Given the description of an element on the screen output the (x, y) to click on. 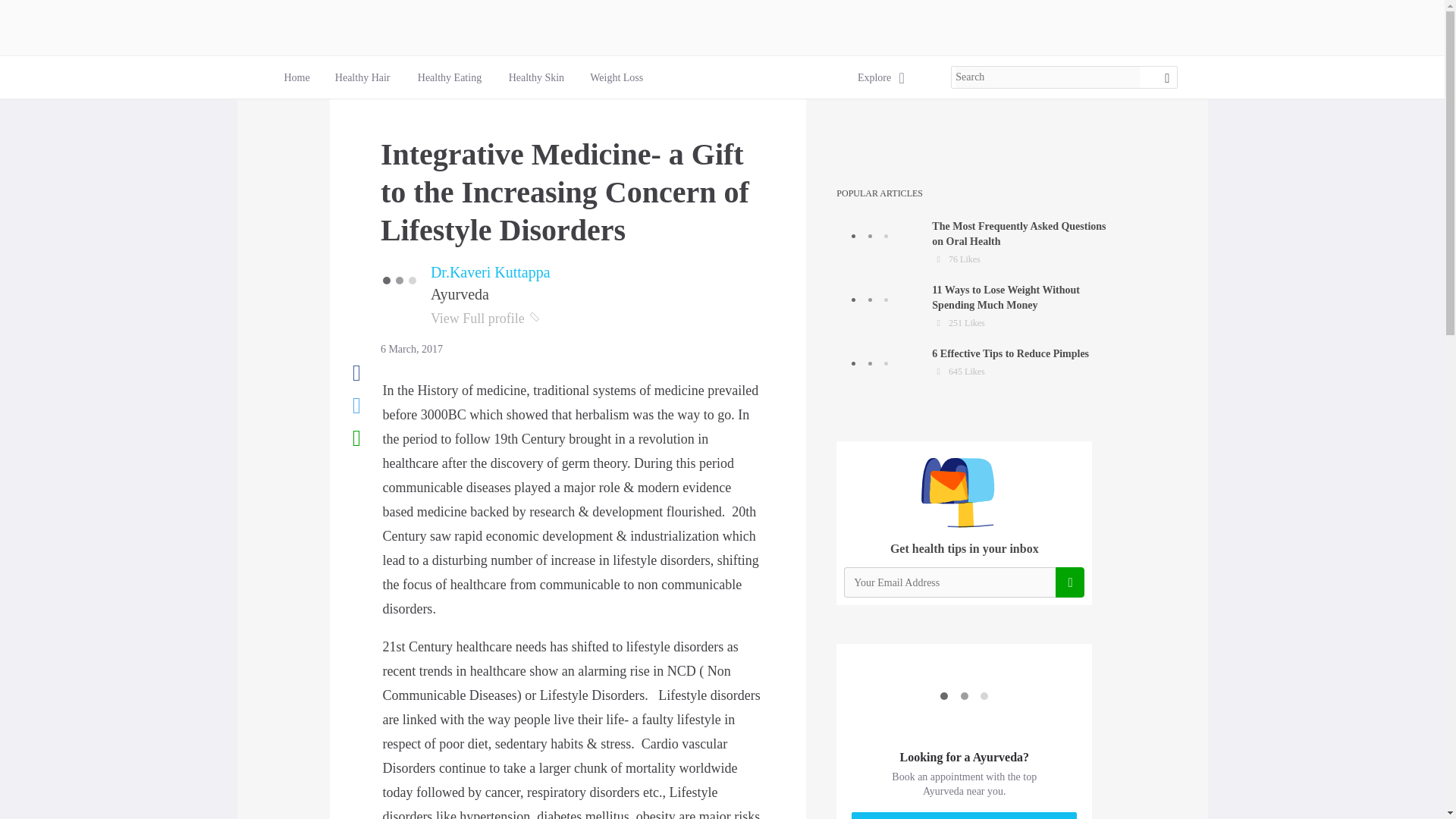
Healthy Eating (977, 243)
Healthy Hair (450, 77)
Explore (362, 77)
Healthy Hair (874, 77)
Weight Loss (362, 77)
Home (616, 77)
Book Now (295, 77)
